Given the description of an element on the screen output the (x, y) to click on. 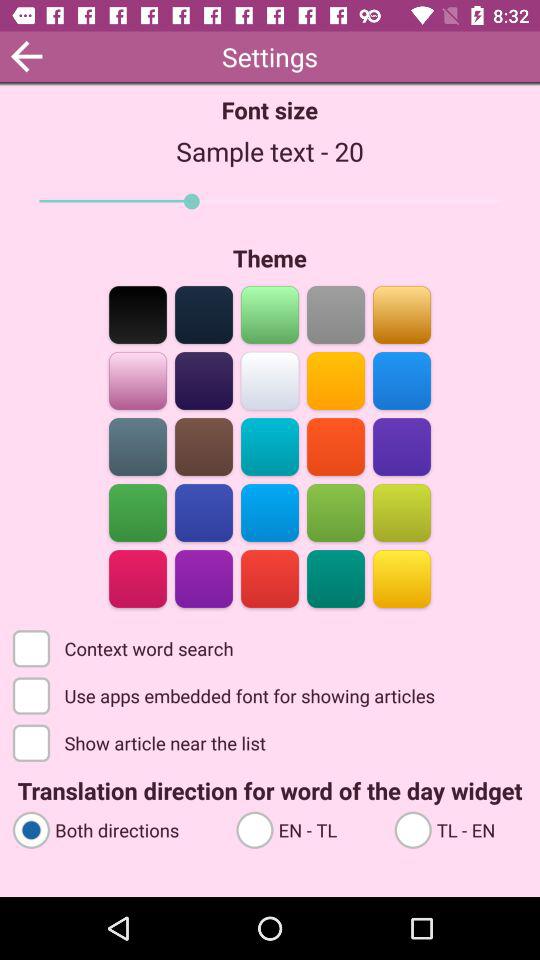
theme option (137, 577)
